Given the description of an element on the screen output the (x, y) to click on. 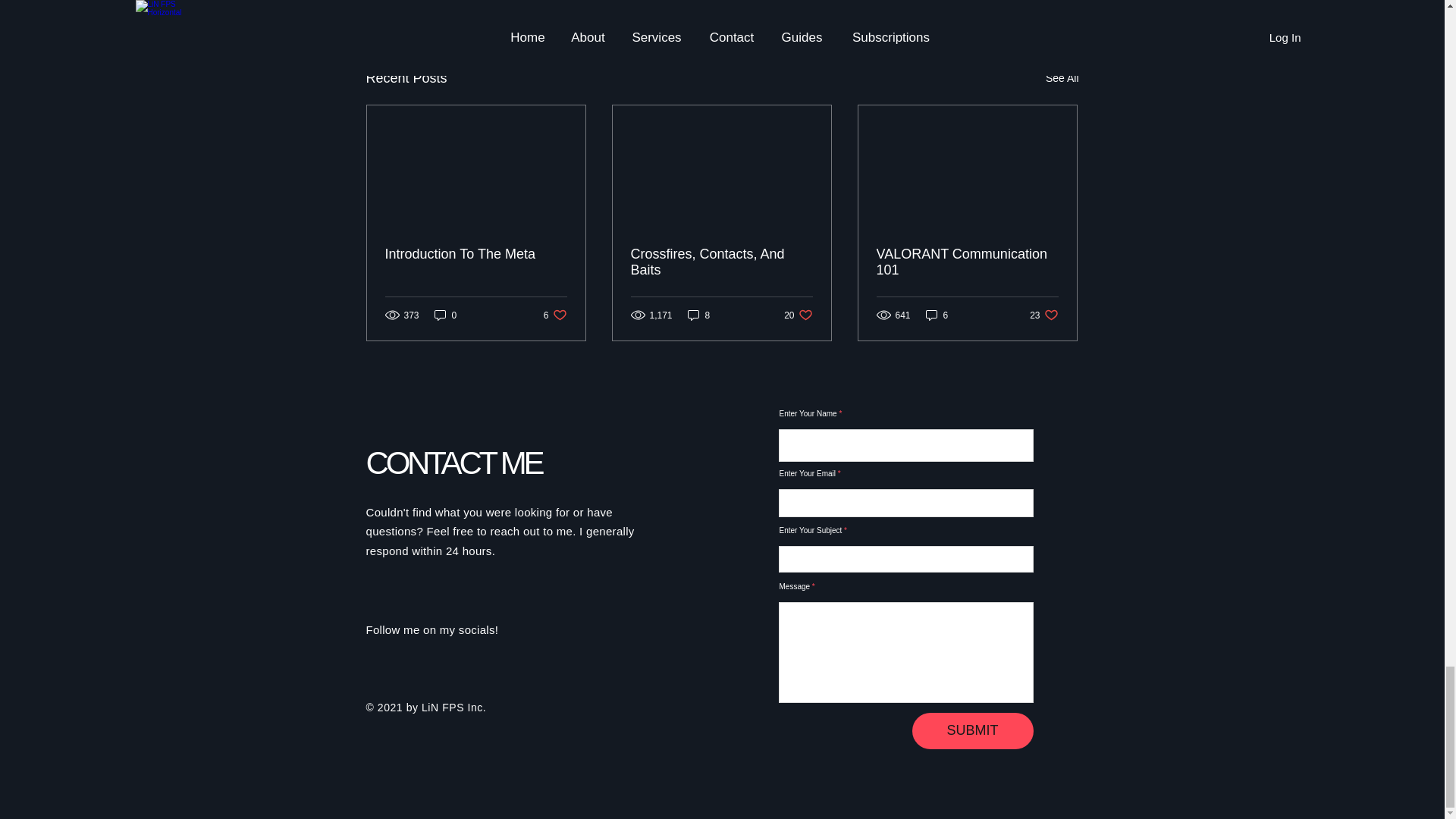
Introduction To The Meta (476, 254)
8 (698, 314)
Crossfires, Contacts, And Baits (555, 314)
0 (990, 1)
See All (721, 262)
